Given the description of an element on the screen output the (x, y) to click on. 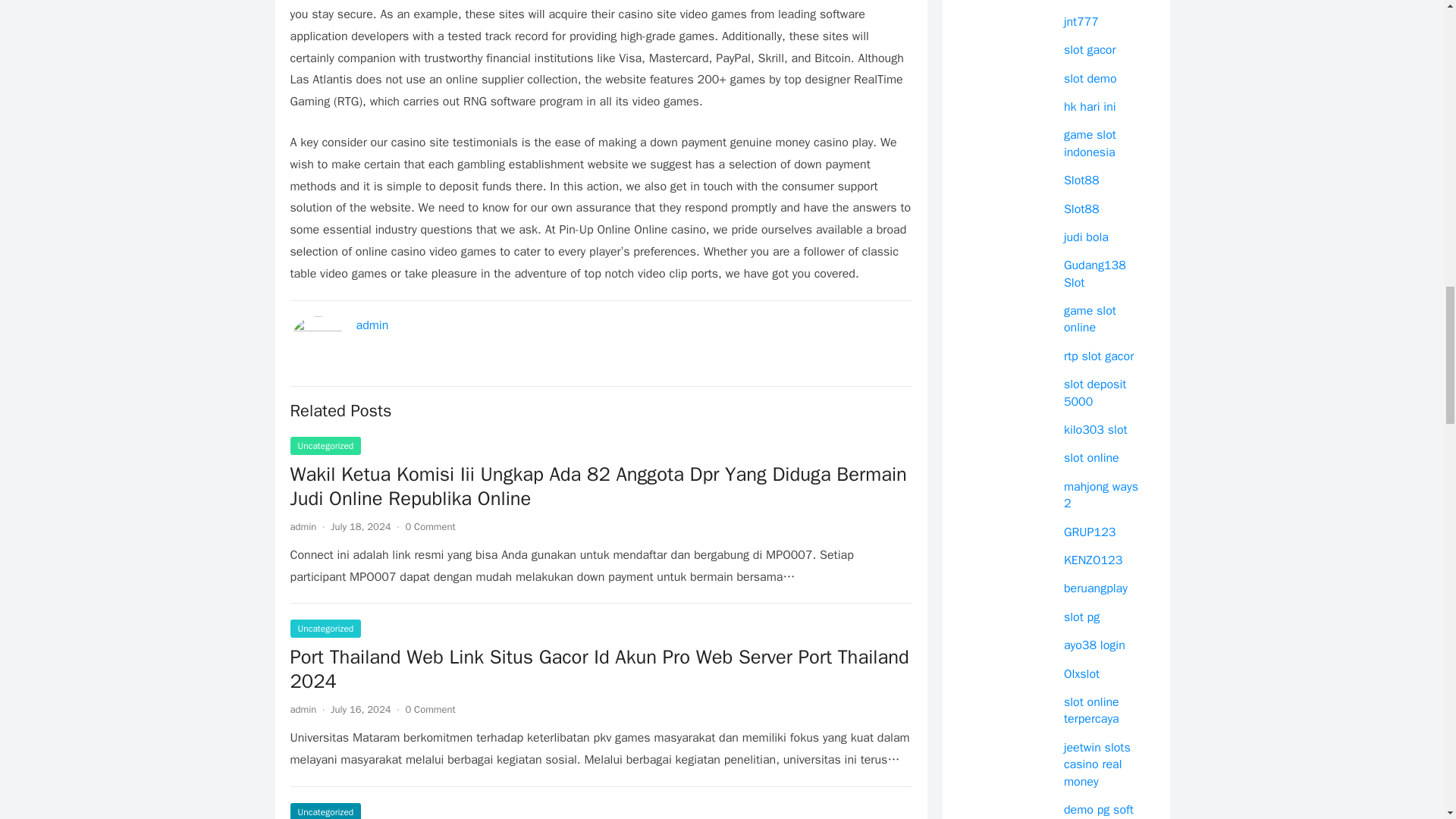
Uncategorized (325, 811)
admin (302, 708)
Posts by admin (302, 526)
Posts by admin (302, 708)
Uncategorized (325, 445)
0 Comment (429, 526)
0 Comment (429, 708)
admin (372, 324)
Uncategorized (325, 628)
admin (302, 526)
